Given the description of an element on the screen output the (x, y) to click on. 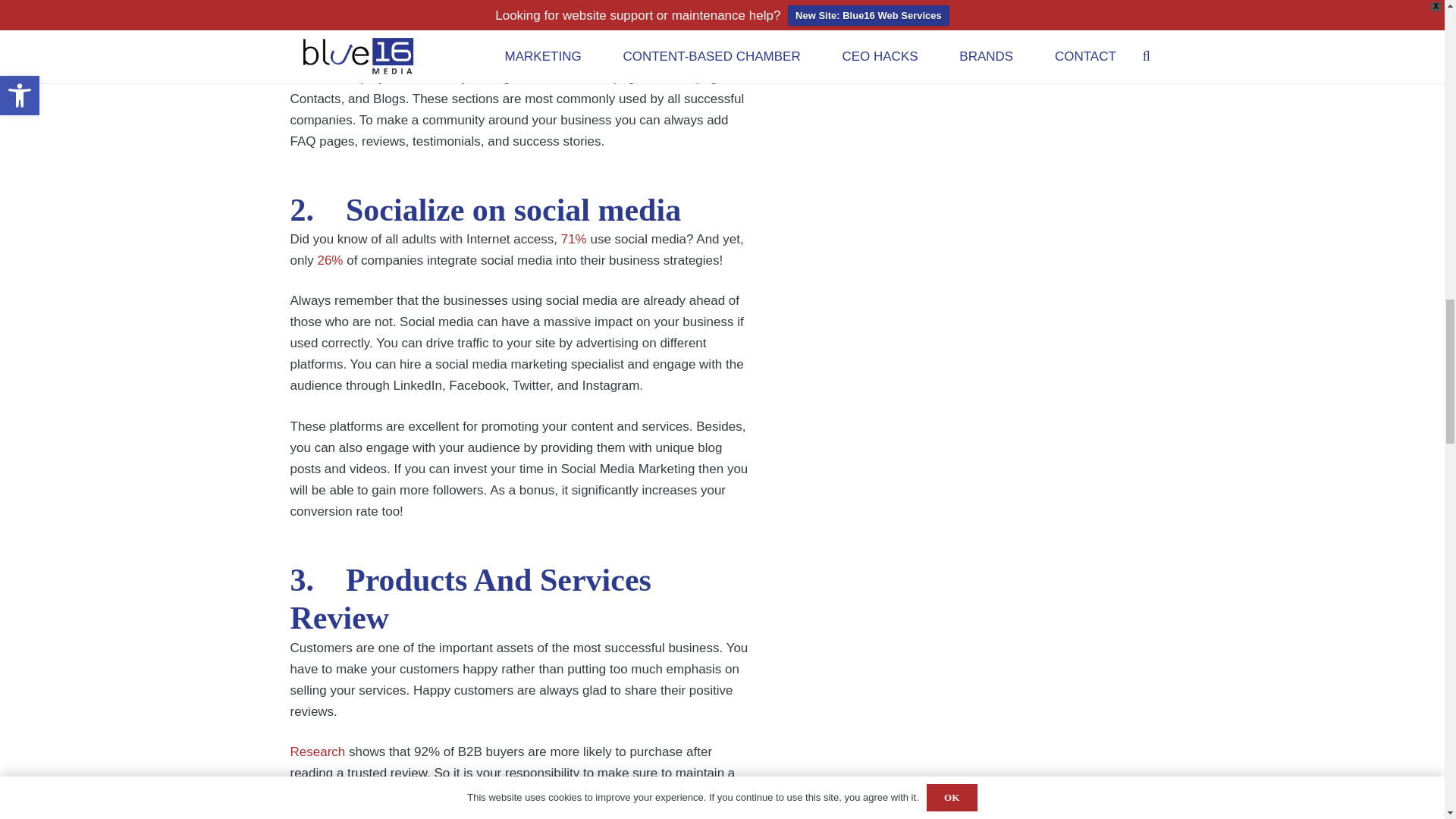
Research (317, 751)
